Given the description of an element on the screen output the (x, y) to click on. 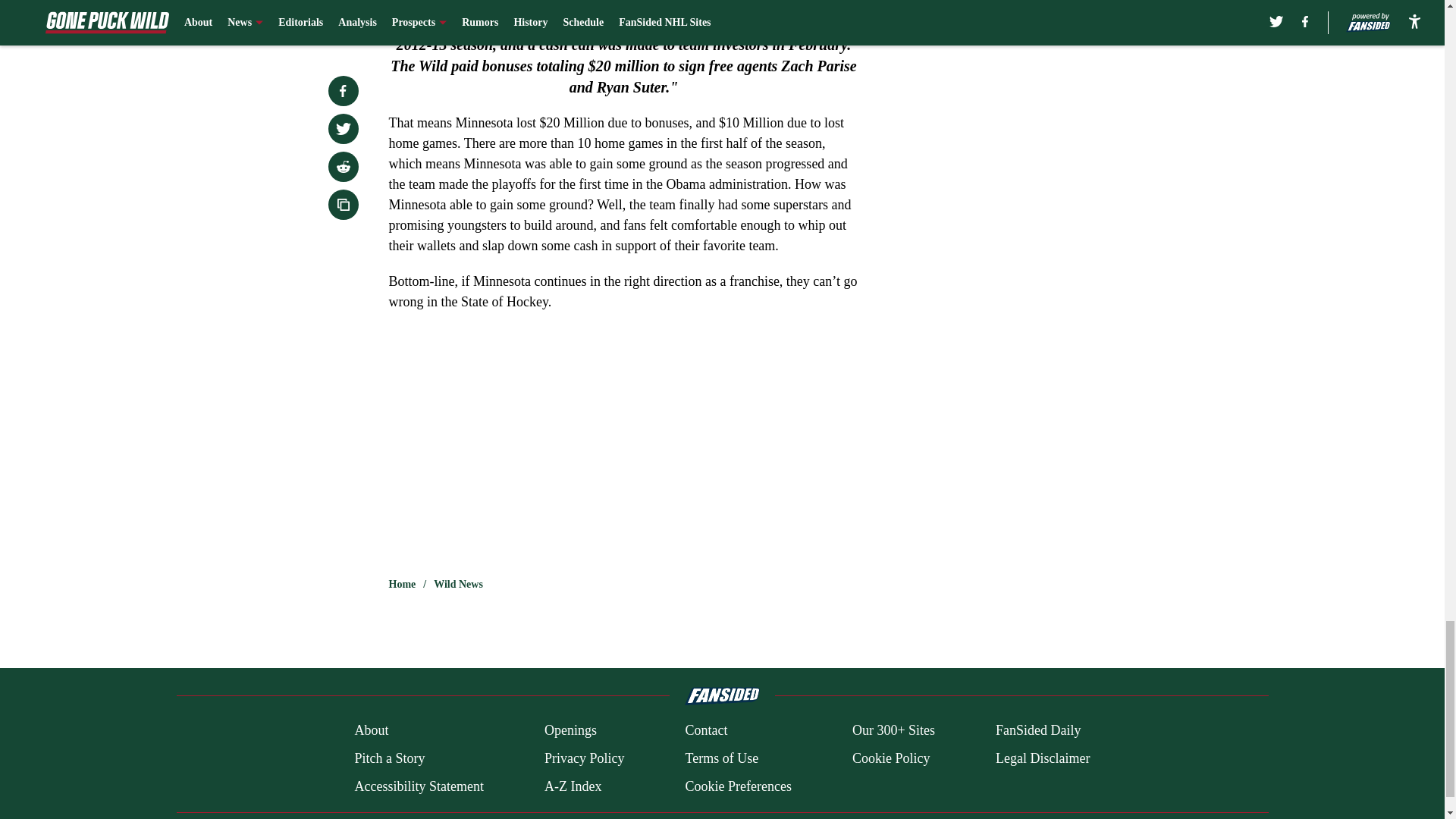
Contact (705, 730)
Legal Disclaimer (1042, 758)
Privacy Policy (584, 758)
Home (401, 584)
Openings (570, 730)
Pitch a Story (389, 758)
Wild News (458, 584)
About (370, 730)
Cookie Policy (890, 758)
Terms of Use (721, 758)
